Given the description of an element on the screen output the (x, y) to click on. 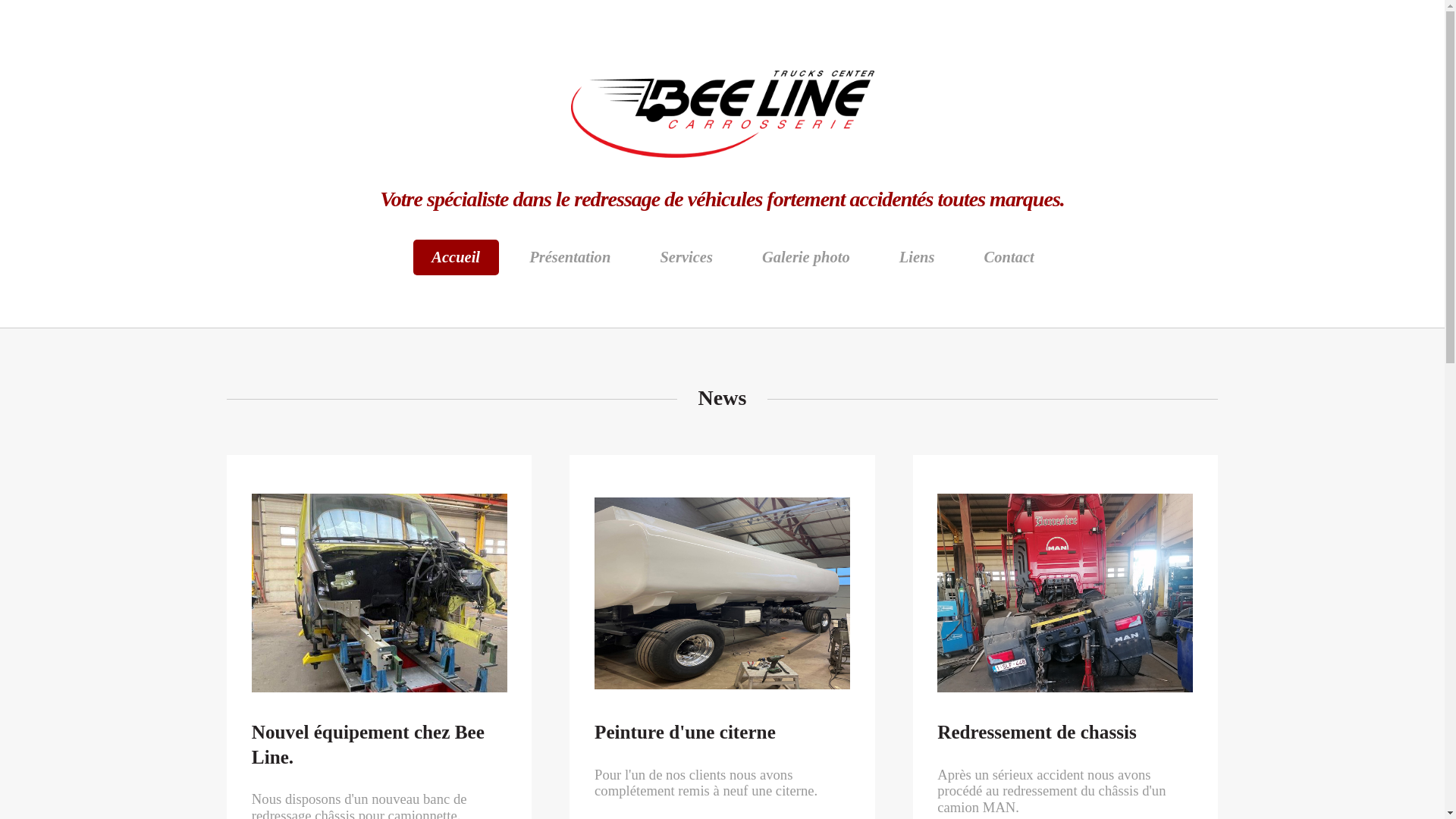
Accueil Element type: text (455, 257)
Services Element type: text (686, 257)
Contact Element type: text (1008, 257)
Galerie photo Element type: text (805, 257)
Liens Element type: text (916, 257)
